Given the description of an element on the screen output the (x, y) to click on. 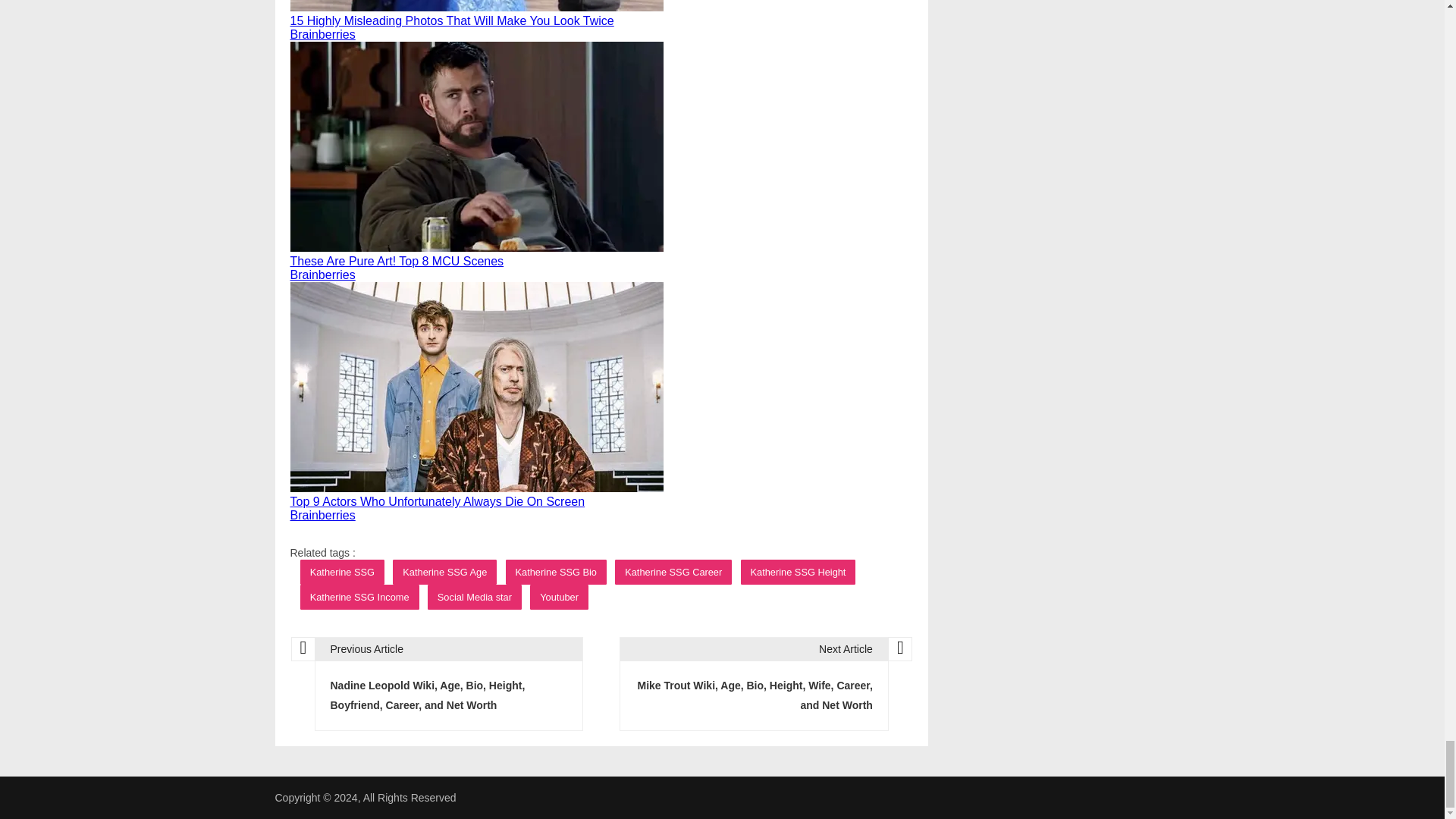
Katherine SSG Age (444, 571)
Katherine SSG Income (359, 596)
Katherine SSG (341, 571)
Katherine SSG Career (673, 571)
Katherine SSG Height (798, 571)
Katherine SSG Bio (556, 571)
